Given the description of an element on the screen output the (x, y) to click on. 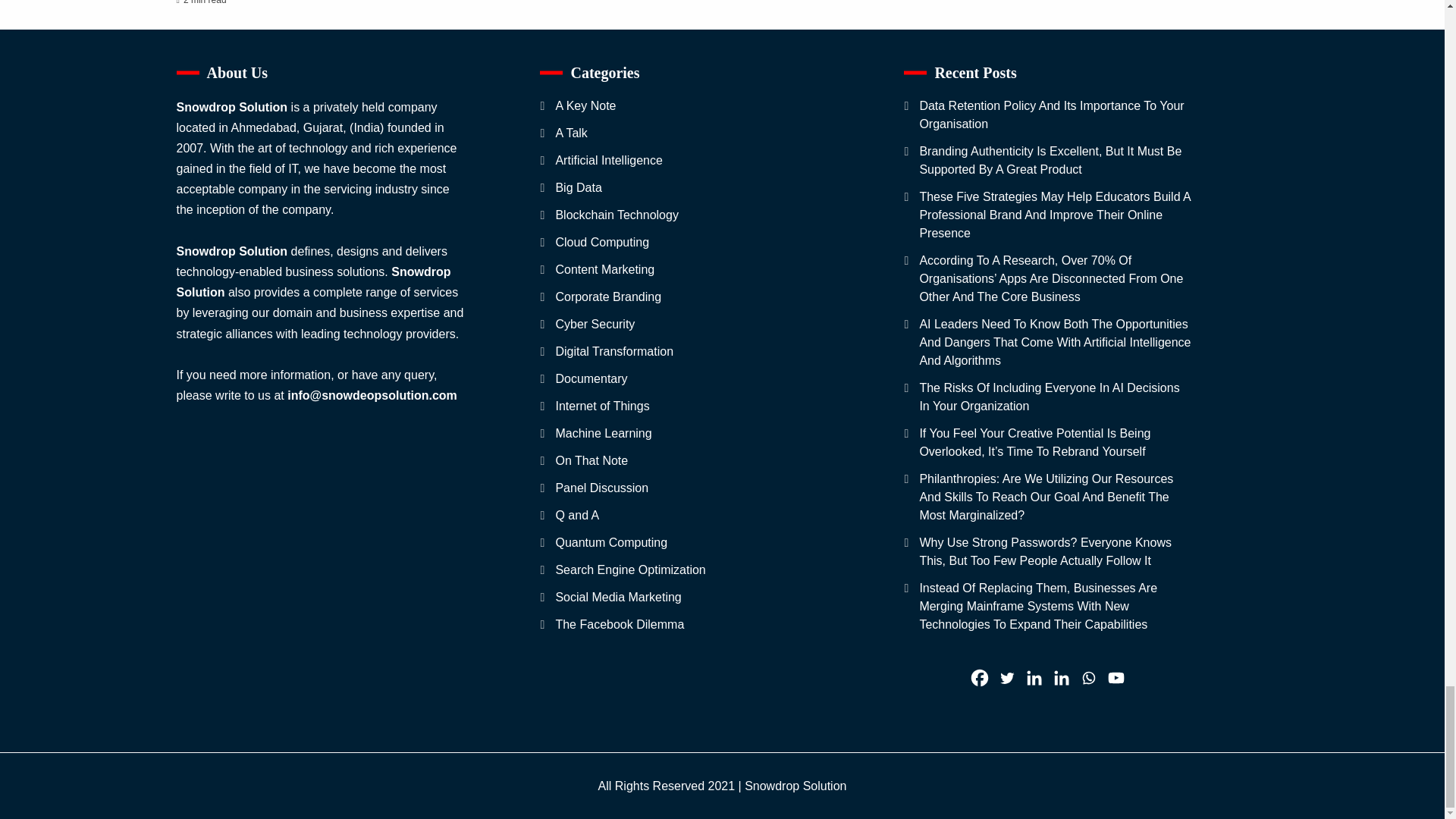
Twitter (1006, 677)
Linkedin Company (1061, 677)
Whatsapp (1088, 677)
Linkedin (1034, 677)
Facebook (979, 677)
Youtube Channel (1115, 677)
